Given the description of an element on the screen output the (x, y) to click on. 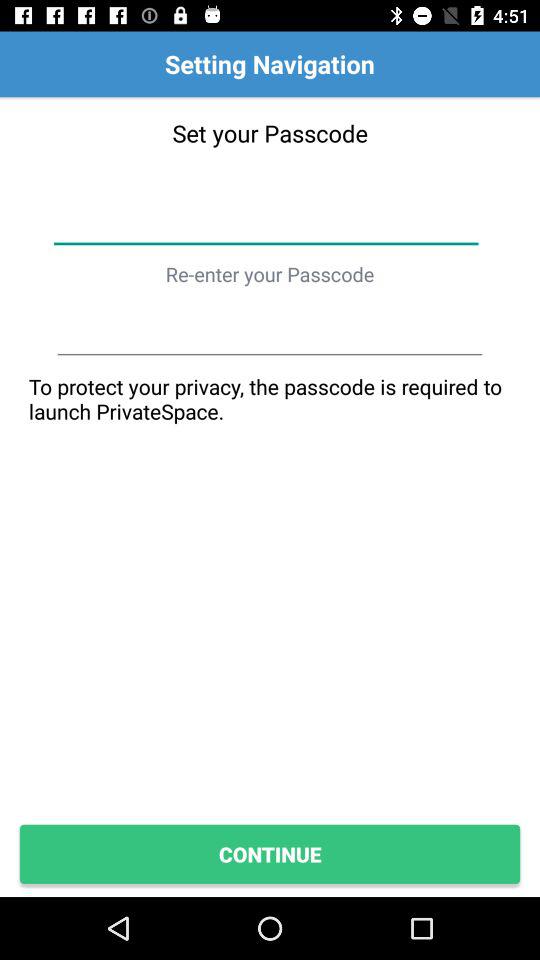
turn off the continue (269, 853)
